Given the description of an element on the screen output the (x, y) to click on. 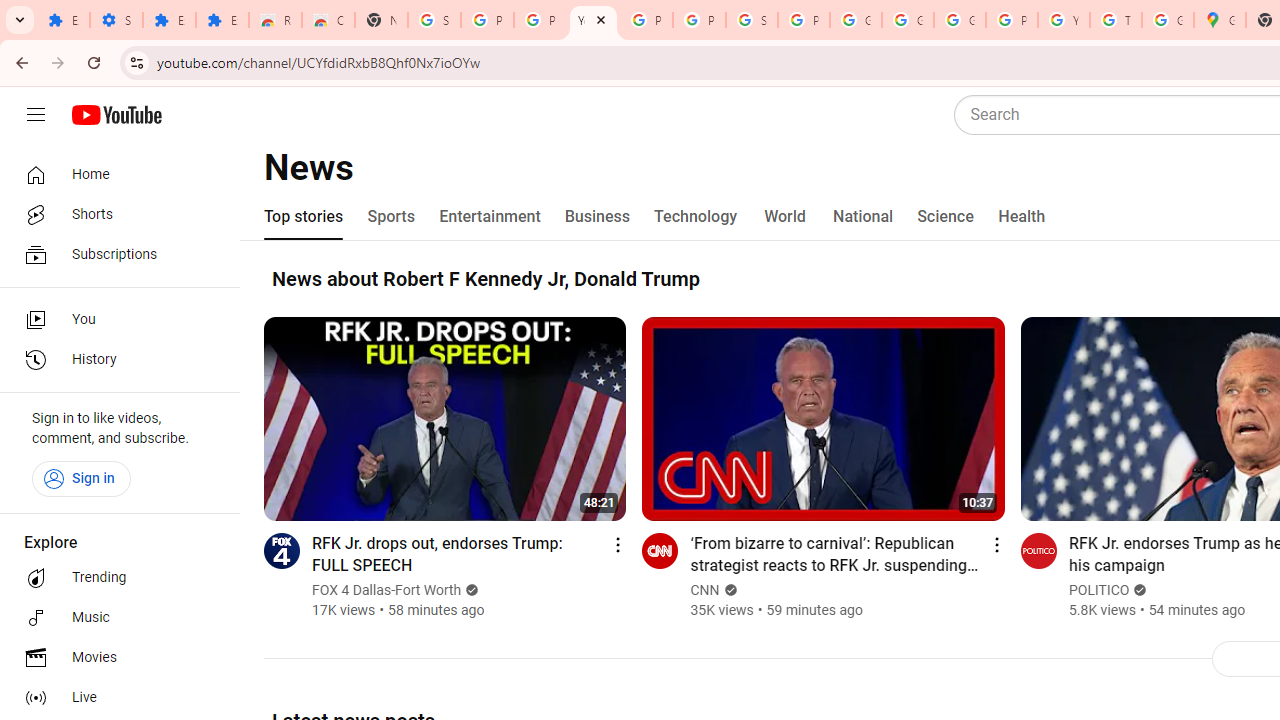
Extensions (222, 20)
Sports (391, 216)
Extensions (63, 20)
Google Account (855, 20)
POLITICO (1099, 590)
National (863, 216)
Google Account (907, 20)
Live (113, 697)
New Tab (381, 20)
Business (597, 216)
